Given the description of an element on the screen output the (x, y) to click on. 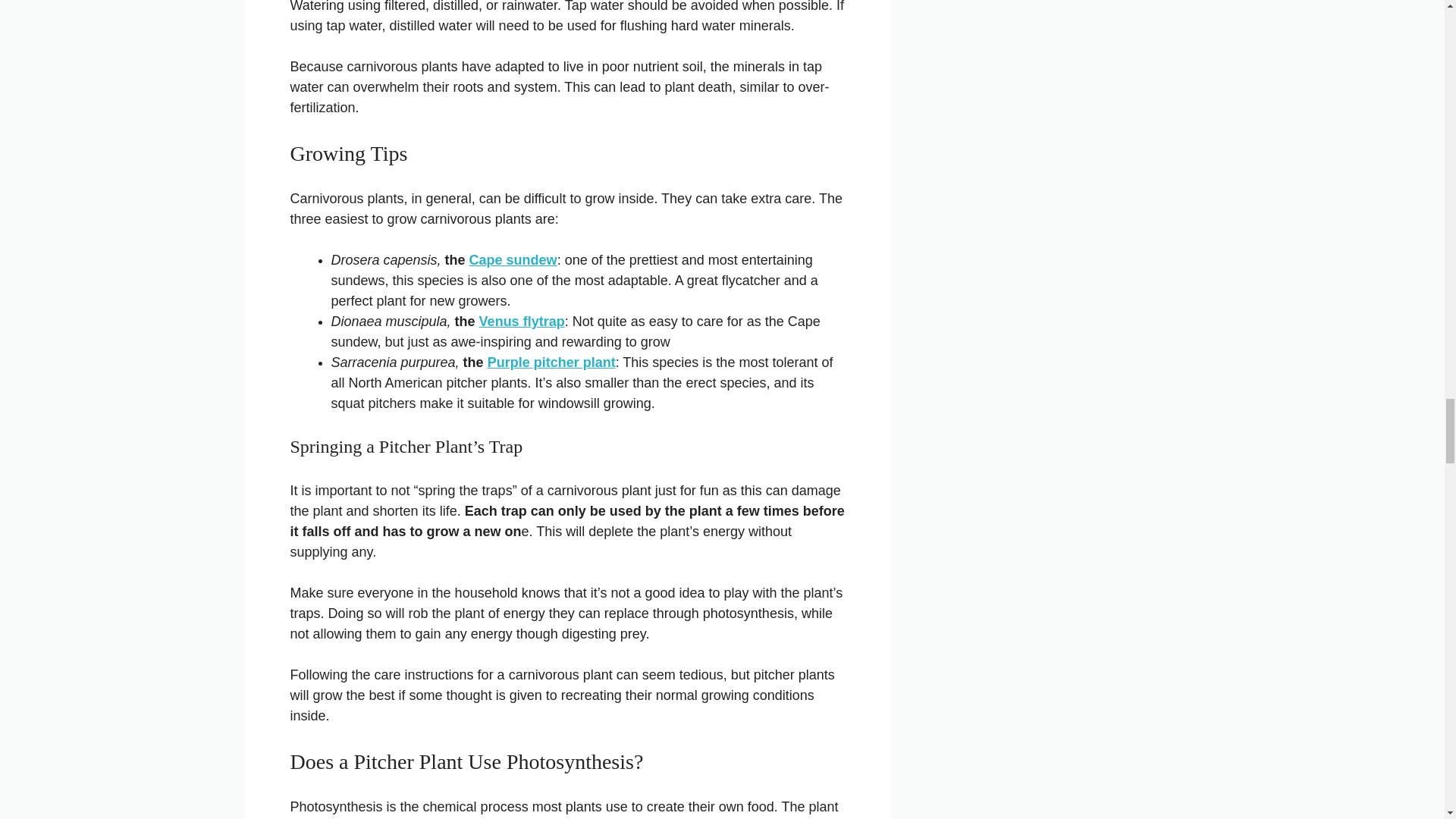
Purple pitcher plant (551, 362)
Venus flytrap (521, 321)
Cape sundew (512, 259)
